Given the description of an element on the screen output the (x, y) to click on. 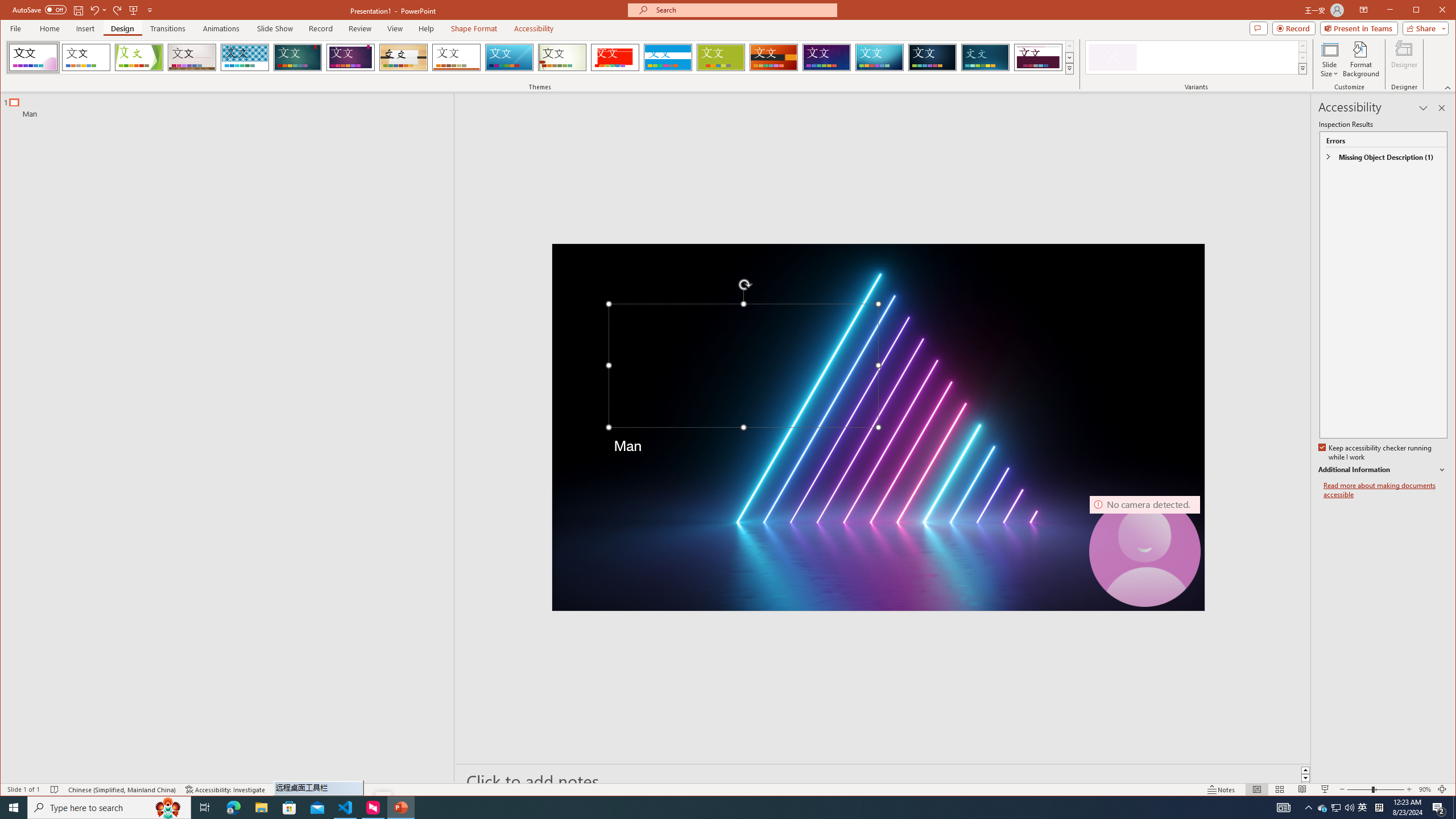
Office Theme (85, 57)
Ion Boardroom (350, 57)
